Given the description of an element on the screen output the (x, y) to click on. 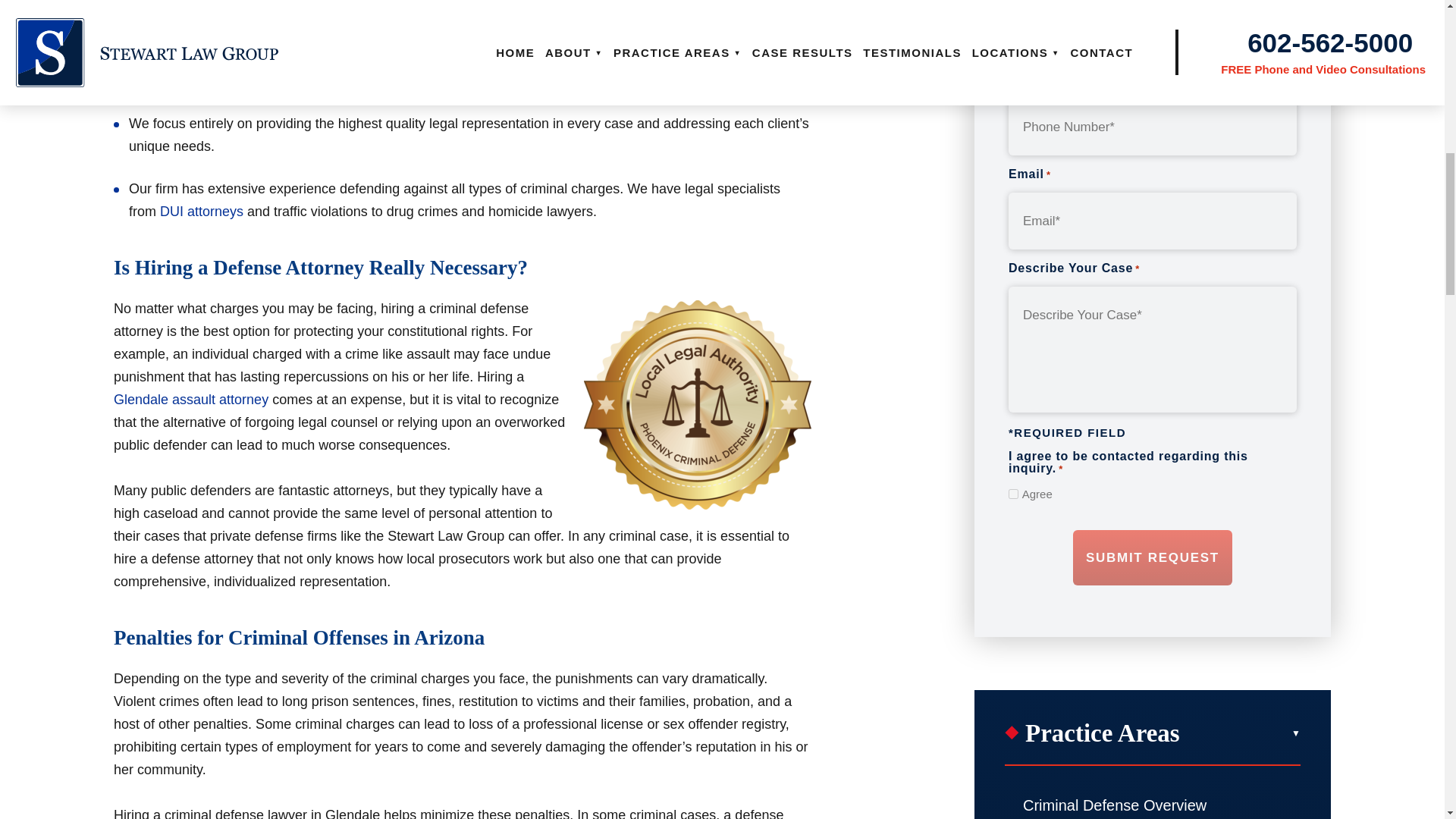
Submit Request (1152, 557)
DUI attorneys (201, 211)
Criminal Defense Overview (1152, 800)
Agree (1013, 493)
Glendale assault attorney (190, 399)
Submit Request (1152, 557)
